Given the description of an element on the screen output the (x, y) to click on. 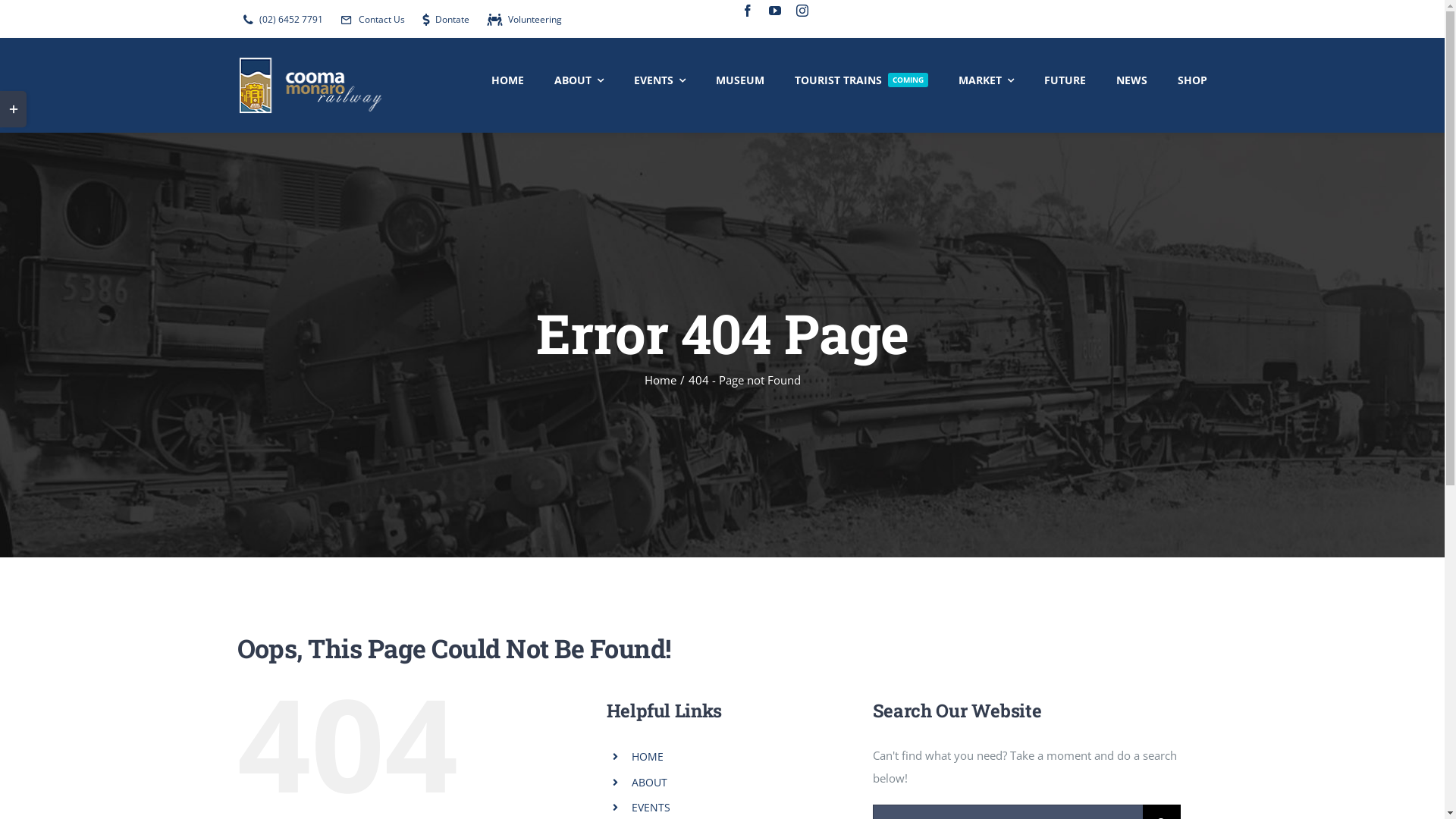
(02) 6452 7791 Element type: text (279, 19)
ABOUT Element type: text (578, 77)
Home Element type: text (660, 379)
ABOUT Element type: text (649, 782)
MARKET Element type: text (985, 77)
Dontate Element type: text (441, 19)
EVENTS Element type: text (650, 807)
FUTURE Element type: text (1064, 77)
NEWS Element type: text (1131, 77)
MUSEUM Element type: text (739, 77)
HOME Element type: text (507, 77)
EVENTS Element type: text (659, 77)
Contact Us Element type: text (368, 19)
Toggle Sliding Bar Area Element type: text (13, 109)
HOME Element type: text (647, 756)
SHOP Element type: text (1192, 77)
Volunteering Element type: text (520, 19)
TOURIST TRAINS
COMING Element type: text (861, 77)
